Given the description of an element on the screen output the (x, y) to click on. 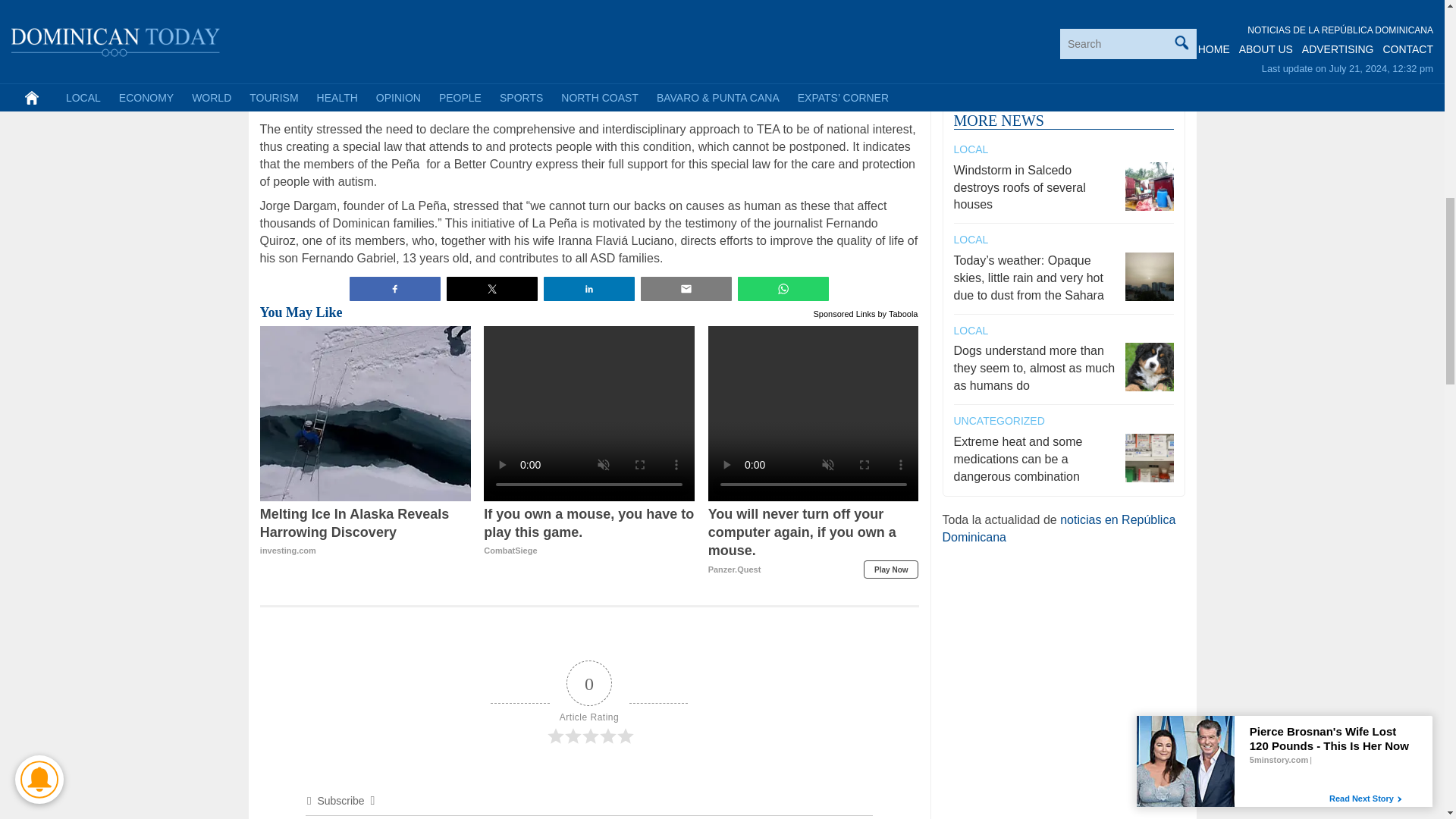
If you own a mouse, you have to play this game. (588, 532)
Melting Ice In Alaska Reveals Harrowing Discovery (365, 532)
by Taboola (897, 312)
Sponsored Links (844, 312)
Play Now (890, 569)
